Given the description of an element on the screen output the (x, y) to click on. 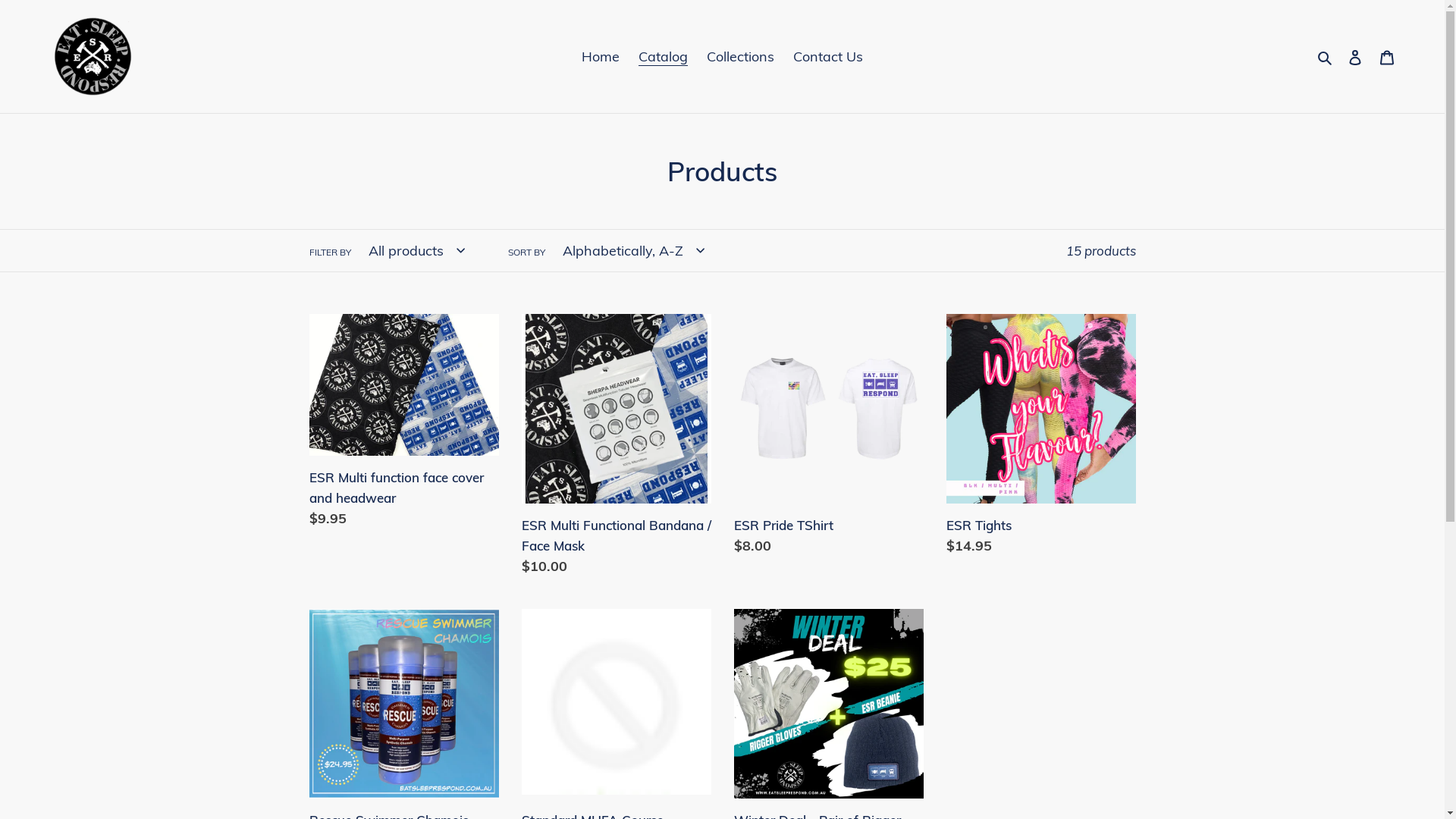
Catalog Element type: text (662, 56)
ESR Tights Element type: text (1040, 437)
ESR Pride TShirt Element type: text (828, 437)
Cart Element type: text (1386, 56)
ESR Multi function face cover and headwear Element type: text (403, 424)
Search Element type: text (1325, 56)
Log in Element type: text (1355, 56)
Collections Element type: text (740, 56)
Home Element type: text (600, 56)
Contact Us Element type: text (827, 56)
ESR Multi Functional Bandana / Face Mask Element type: text (616, 447)
